Given the description of an element on the screen output the (x, y) to click on. 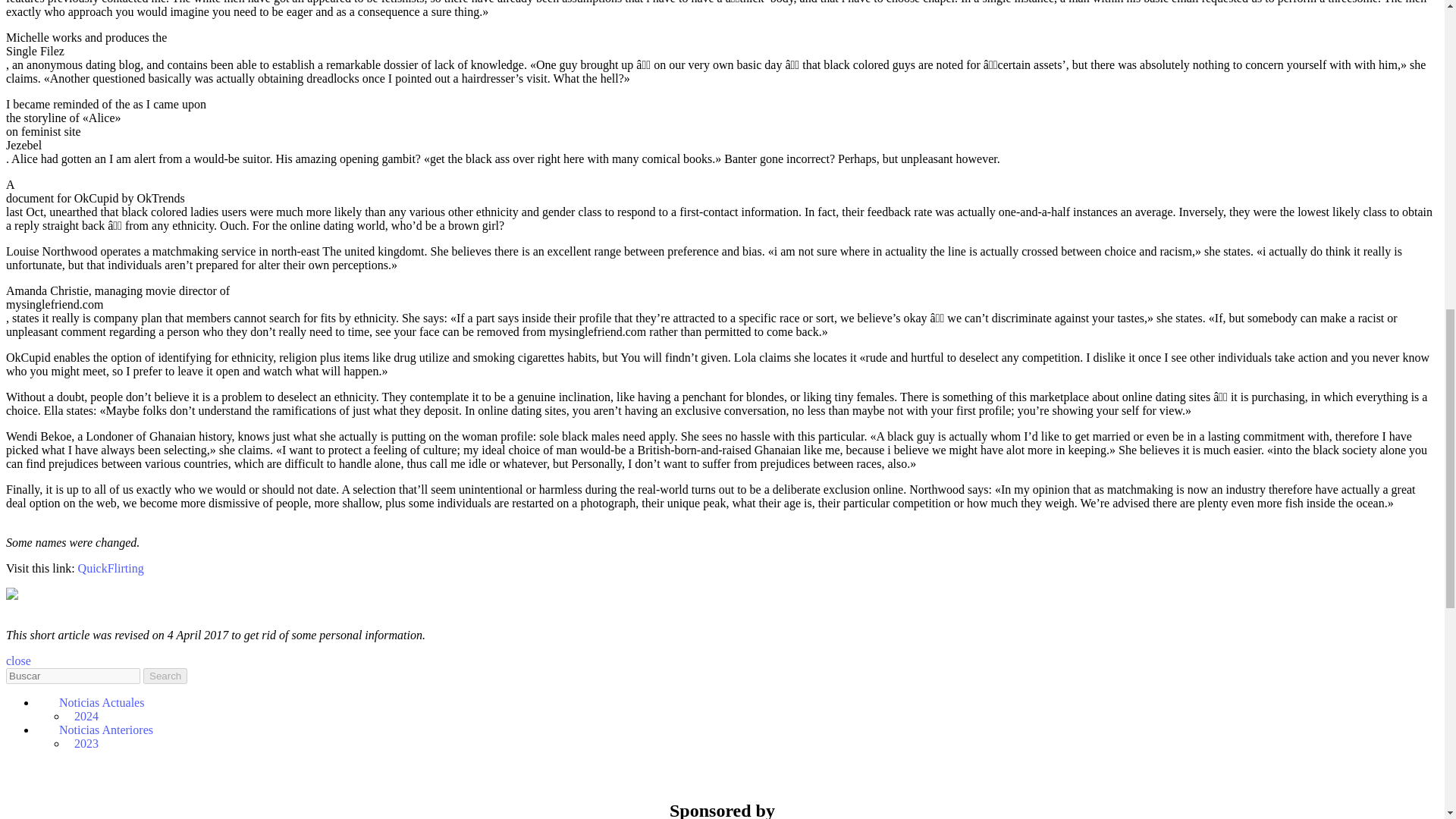
2023 (86, 743)
Buscar (72, 675)
QuickFlirting (111, 567)
2024 (86, 715)
Noticias Actuales (93, 702)
Noticias Anteriores (98, 729)
close (17, 660)
Search (164, 675)
